Given the description of an element on the screen output the (x, y) to click on. 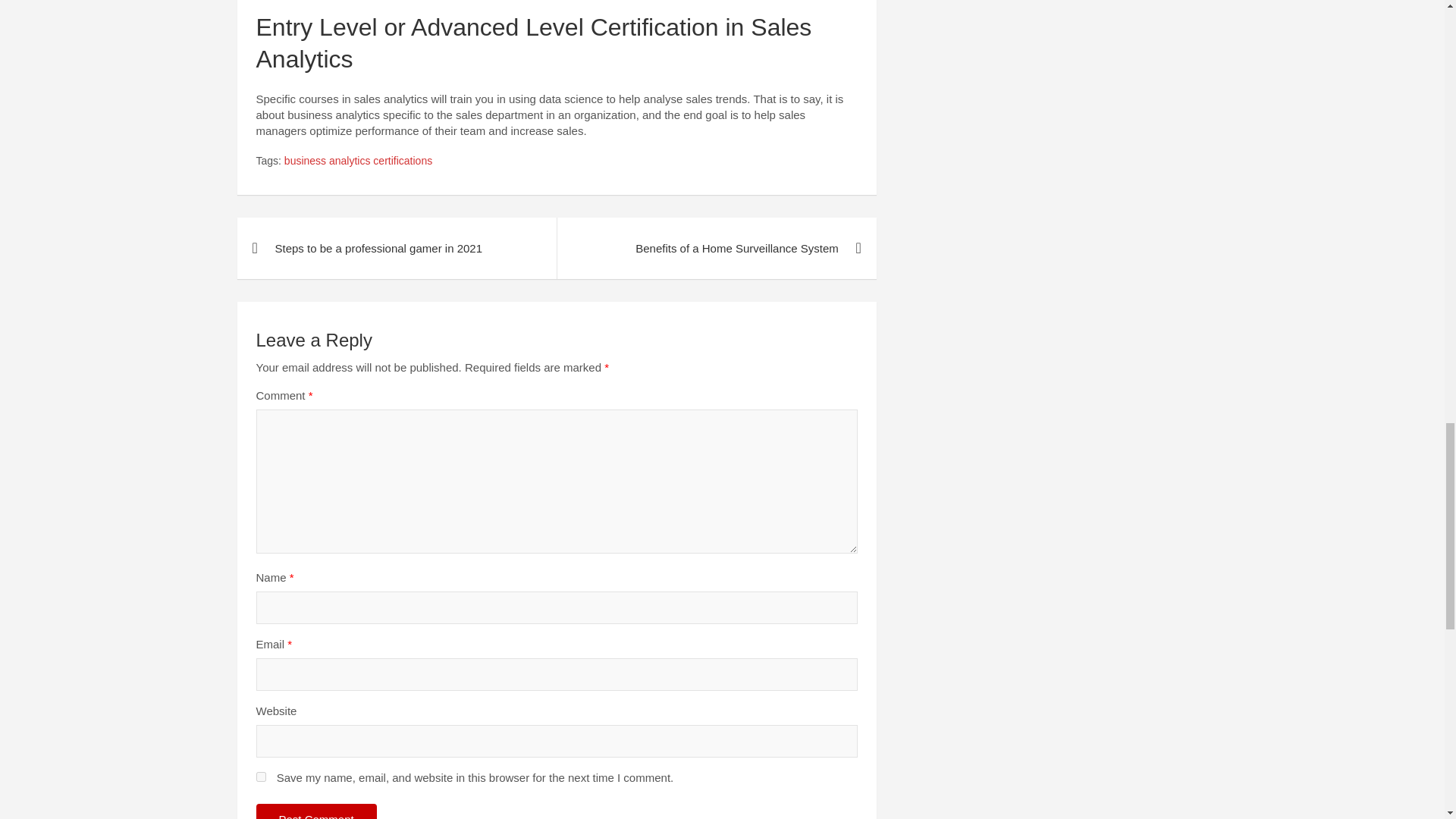
business analytics certifications (357, 160)
Post Comment (316, 811)
Steps to be a professional gamer in 2021 (395, 248)
Post Comment (316, 811)
yes (261, 777)
Benefits of a Home Surveillance System (716, 248)
